Given the description of an element on the screen output the (x, y) to click on. 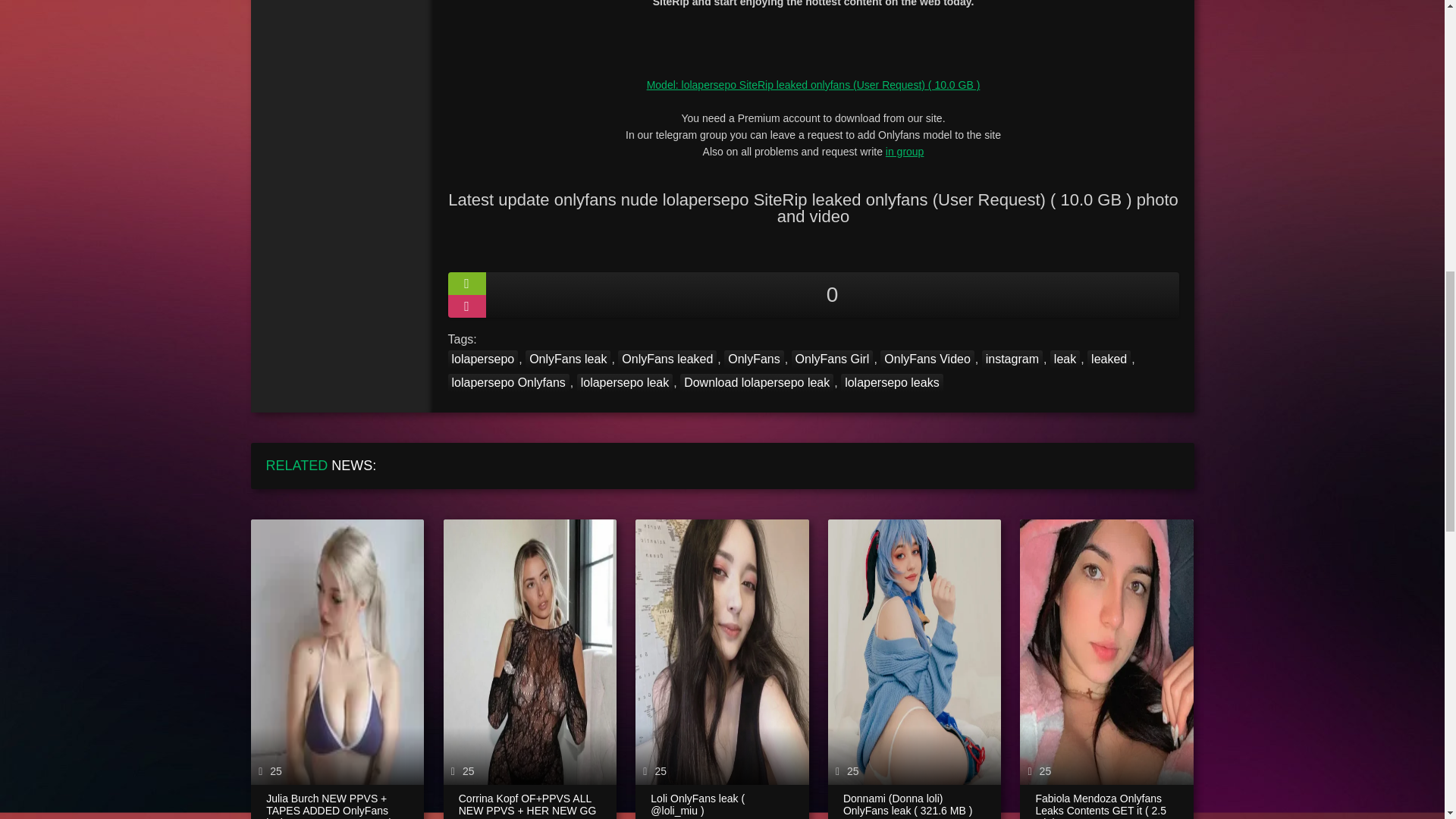
leak (1064, 359)
Download lolapersepo leak (755, 382)
OnlyFans Girl (832, 359)
leaked (1109, 359)
lolapersepo leaks (892, 382)
instagram (1011, 359)
OnlyFans leak (567, 359)
lolapersepo (482, 359)
lolapersepo Onlyfans (507, 382)
OnlyFans Video (927, 359)
